Given the description of an element on the screen output the (x, y) to click on. 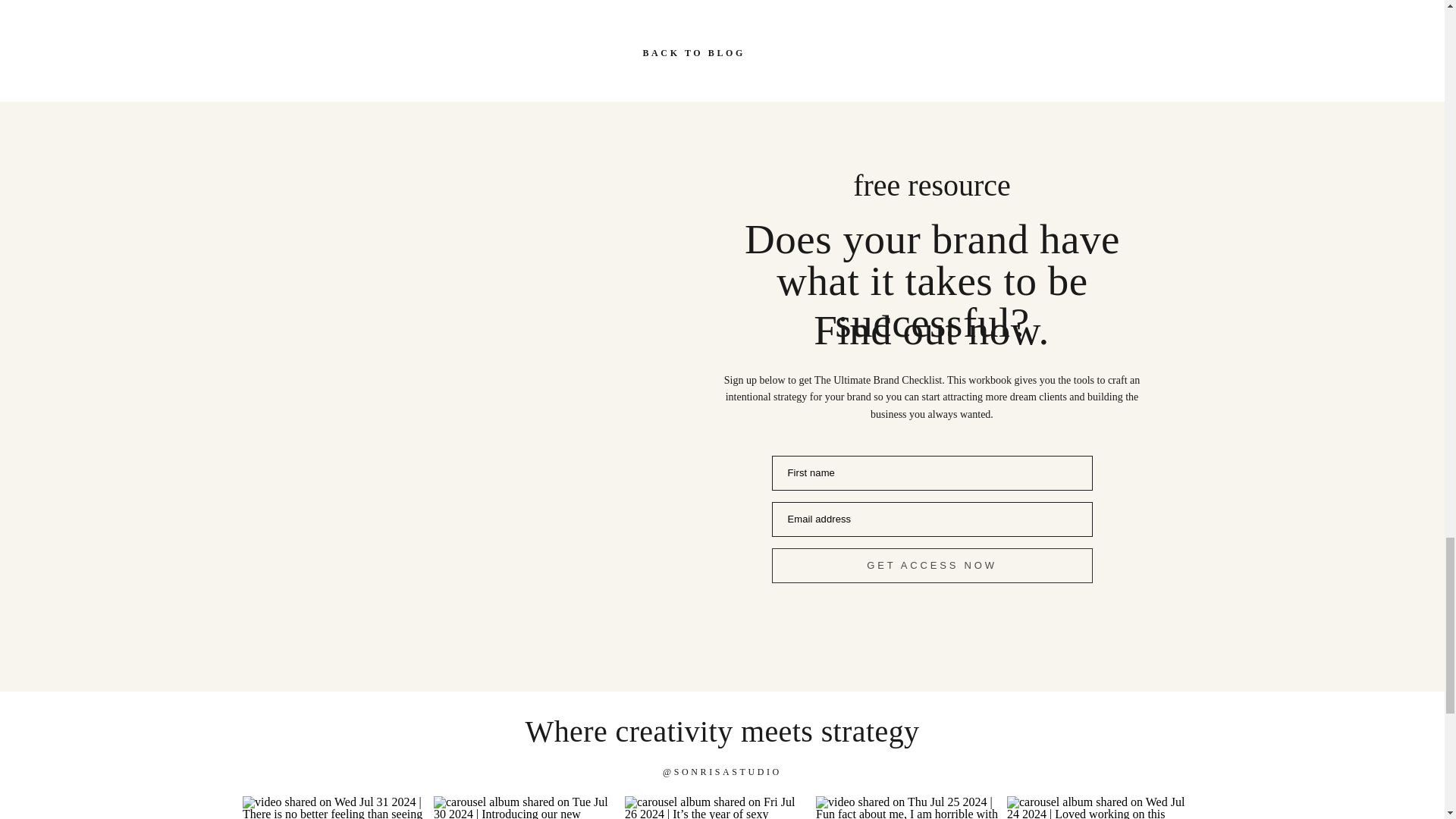
BACK TO BLOG (722, 50)
GET ACCESS NOW (932, 565)
